Given the description of an element on the screen output the (x, y) to click on. 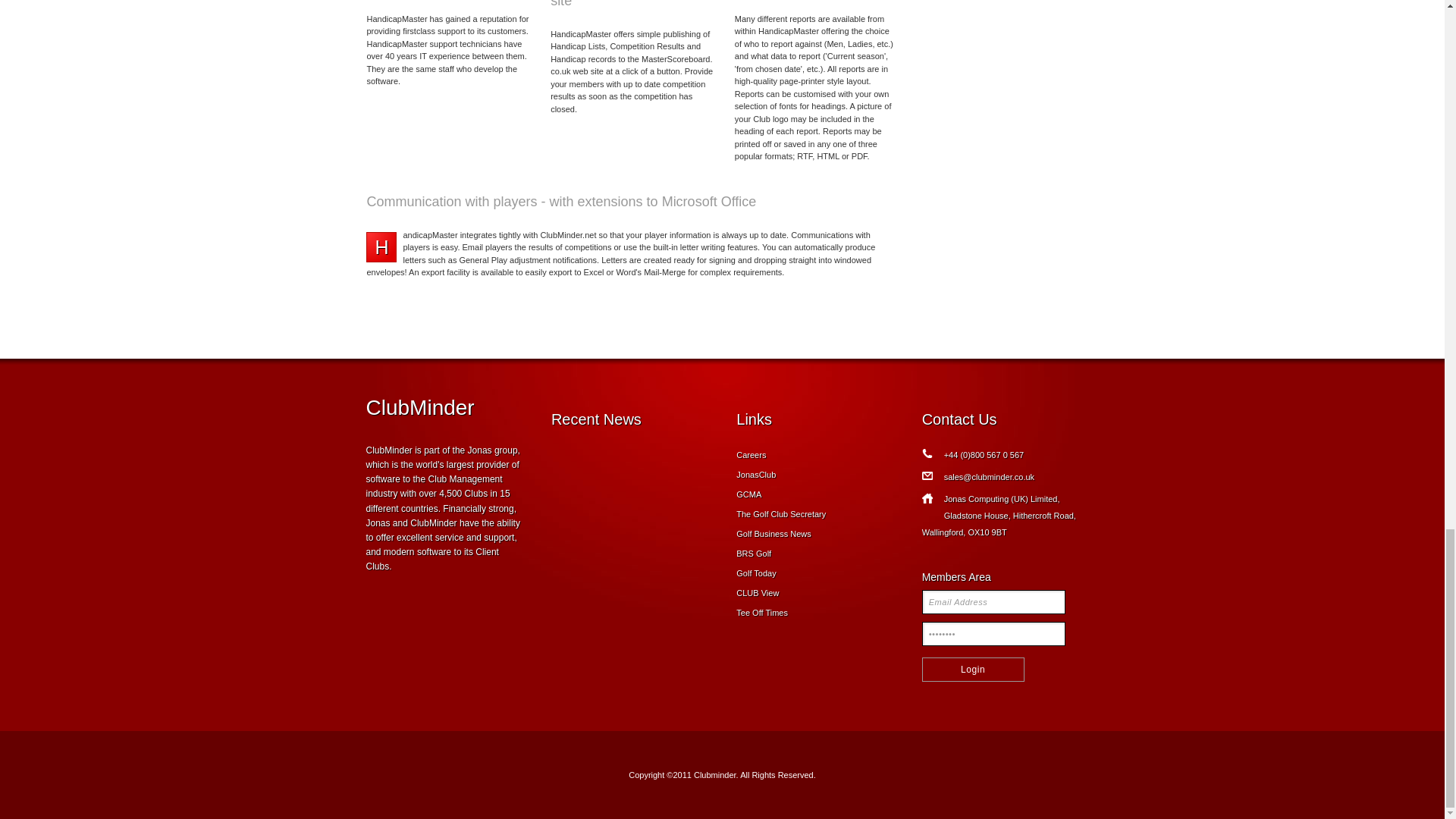
Careers (750, 454)
Golf Today (756, 573)
Email Address (993, 601)
Golf Business News (773, 533)
BRS Golf (753, 552)
CLUB View (757, 592)
GCMA (748, 493)
Password (993, 633)
The Golf Club Secretary (780, 513)
JonasClub (756, 474)
